Given the description of an element on the screen output the (x, y) to click on. 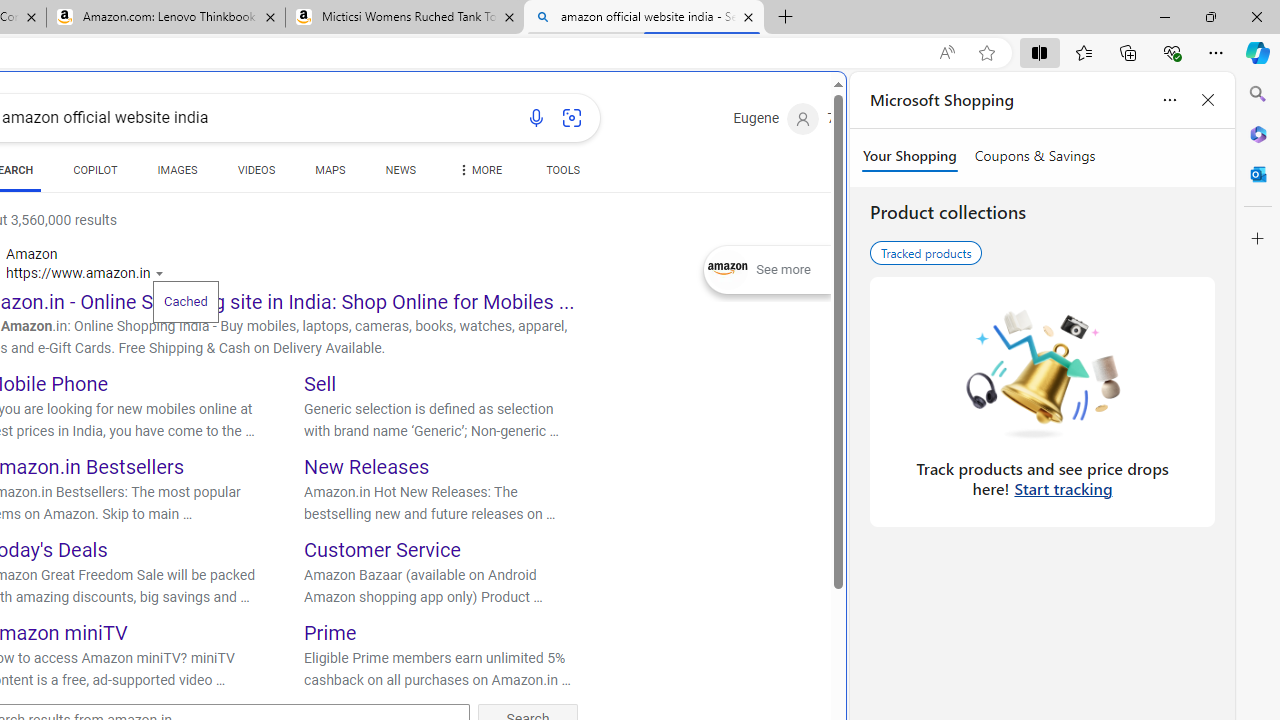
Search using voice (536, 117)
NEWS (400, 170)
Dropdown Menu (478, 170)
Expand See more (767, 269)
COPILOT (95, 170)
amazon official website india - Search (643, 17)
TOOLS (562, 170)
